Given the description of an element on the screen output the (x, y) to click on. 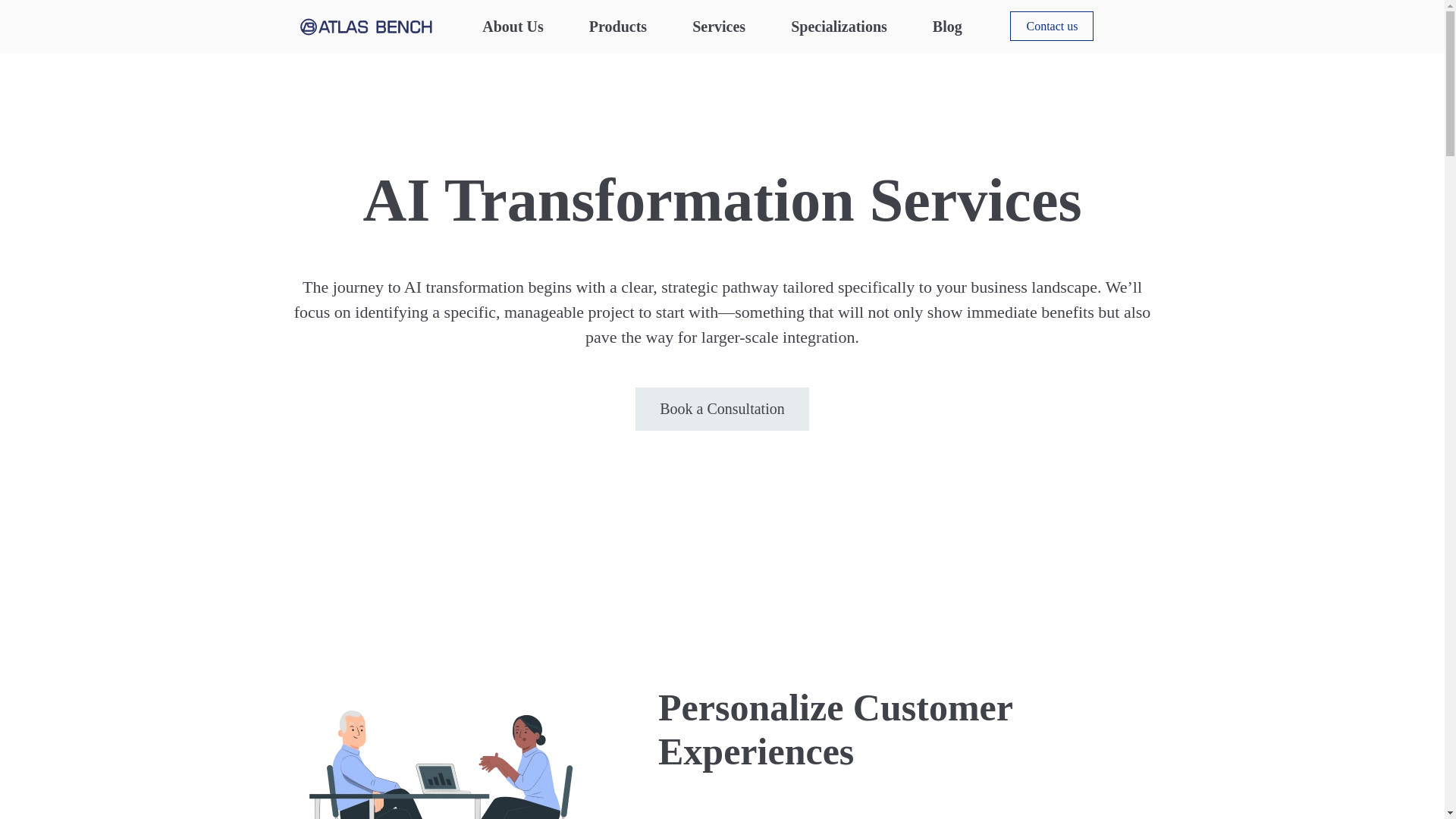
Products (617, 26)
Specializations (838, 26)
About Us (512, 26)
Book a Consultation (721, 408)
Services (719, 26)
Contact us (1051, 25)
Blog (947, 26)
